Given the description of an element on the screen output the (x, y) to click on. 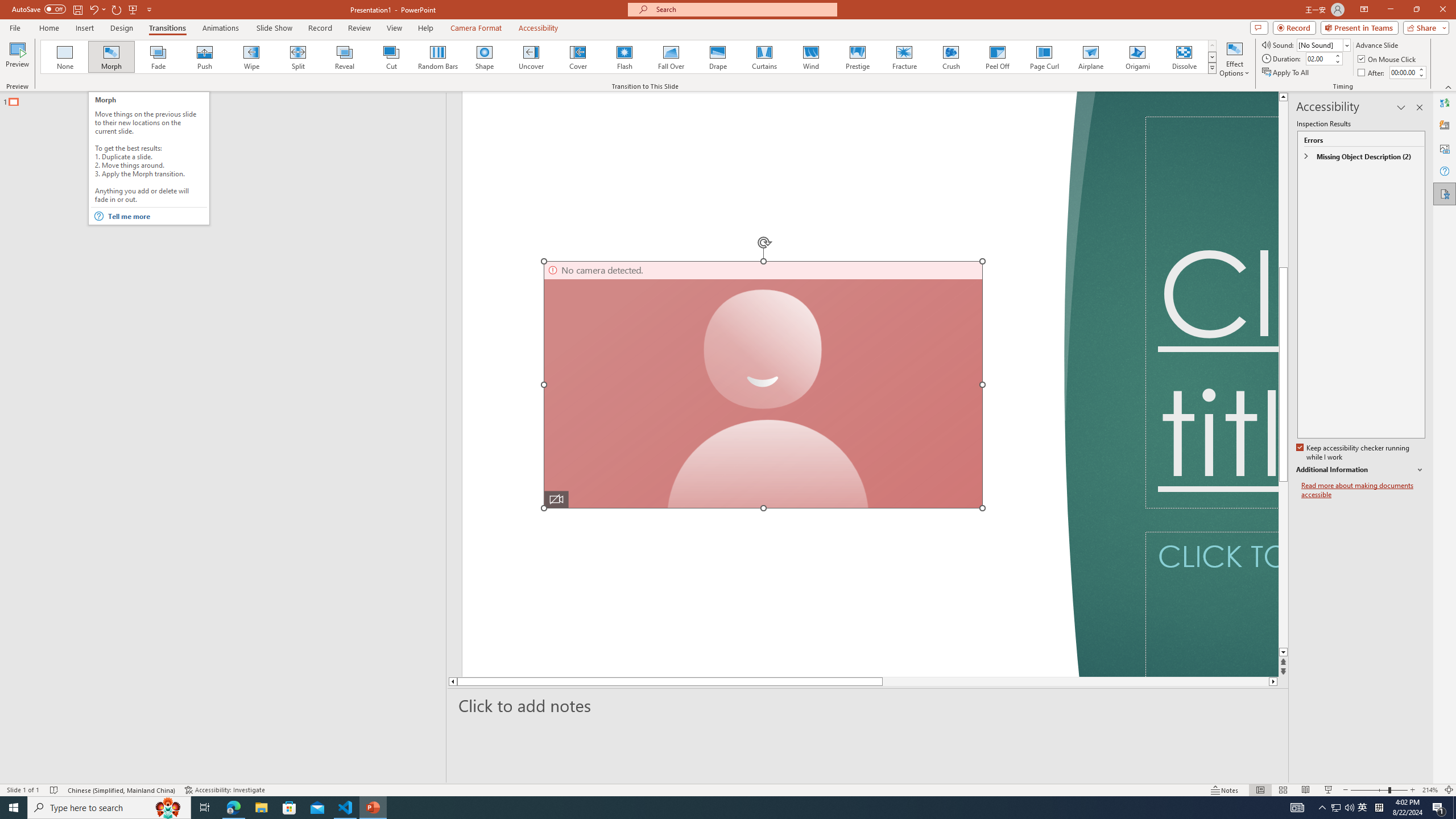
Crush (950, 56)
Curtains (764, 56)
Airplane (1090, 56)
Flash (624, 56)
Dissolve (1183, 56)
